Given the description of an element on the screen output the (x, y) to click on. 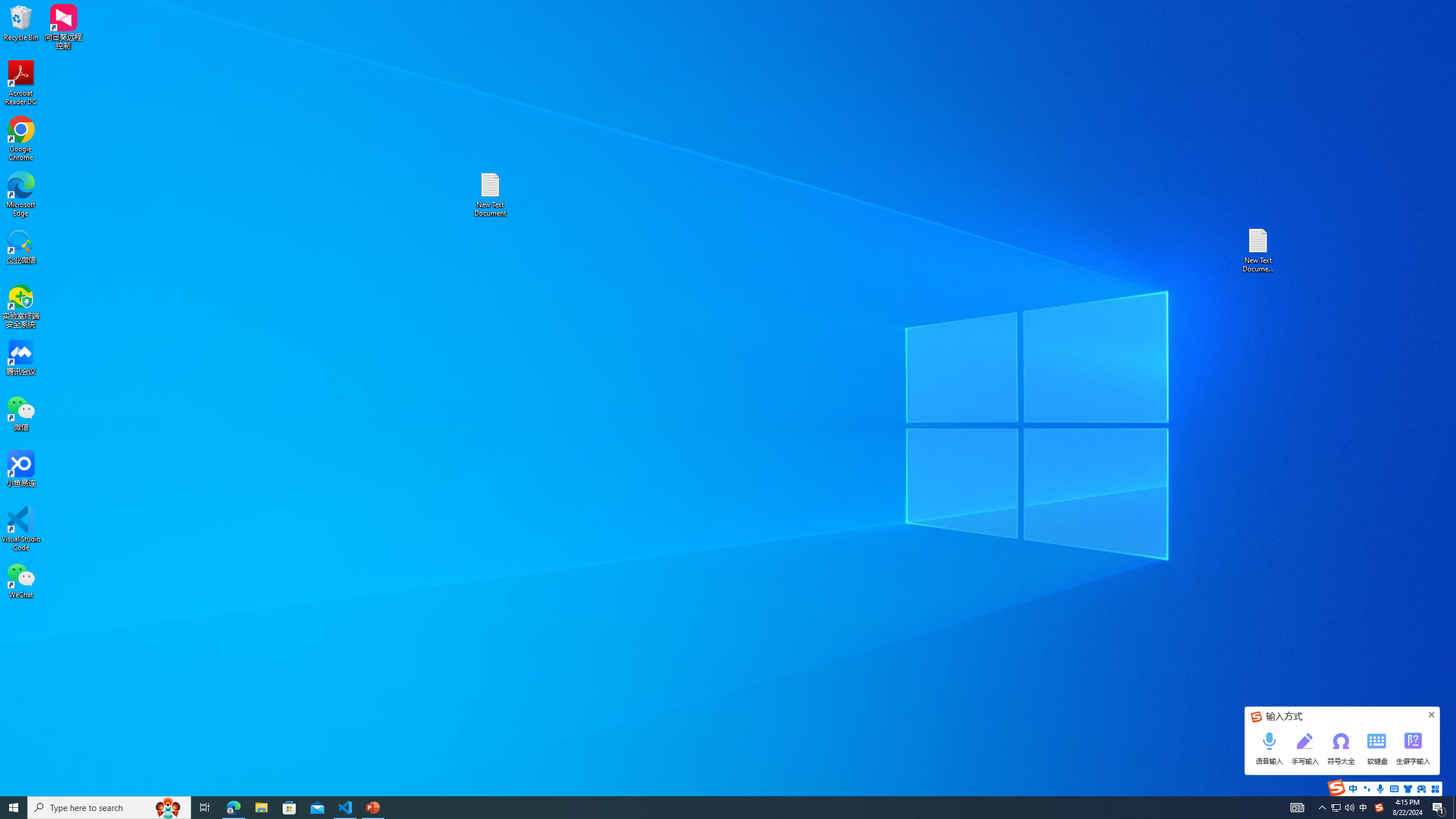
New Text Document (2) (1258, 250)
WeChat (21, 580)
Visual Studio Code (21, 528)
Google Chrome (21, 138)
Recycle Bin (21, 22)
